Given the description of an element on the screen output the (x, y) to click on. 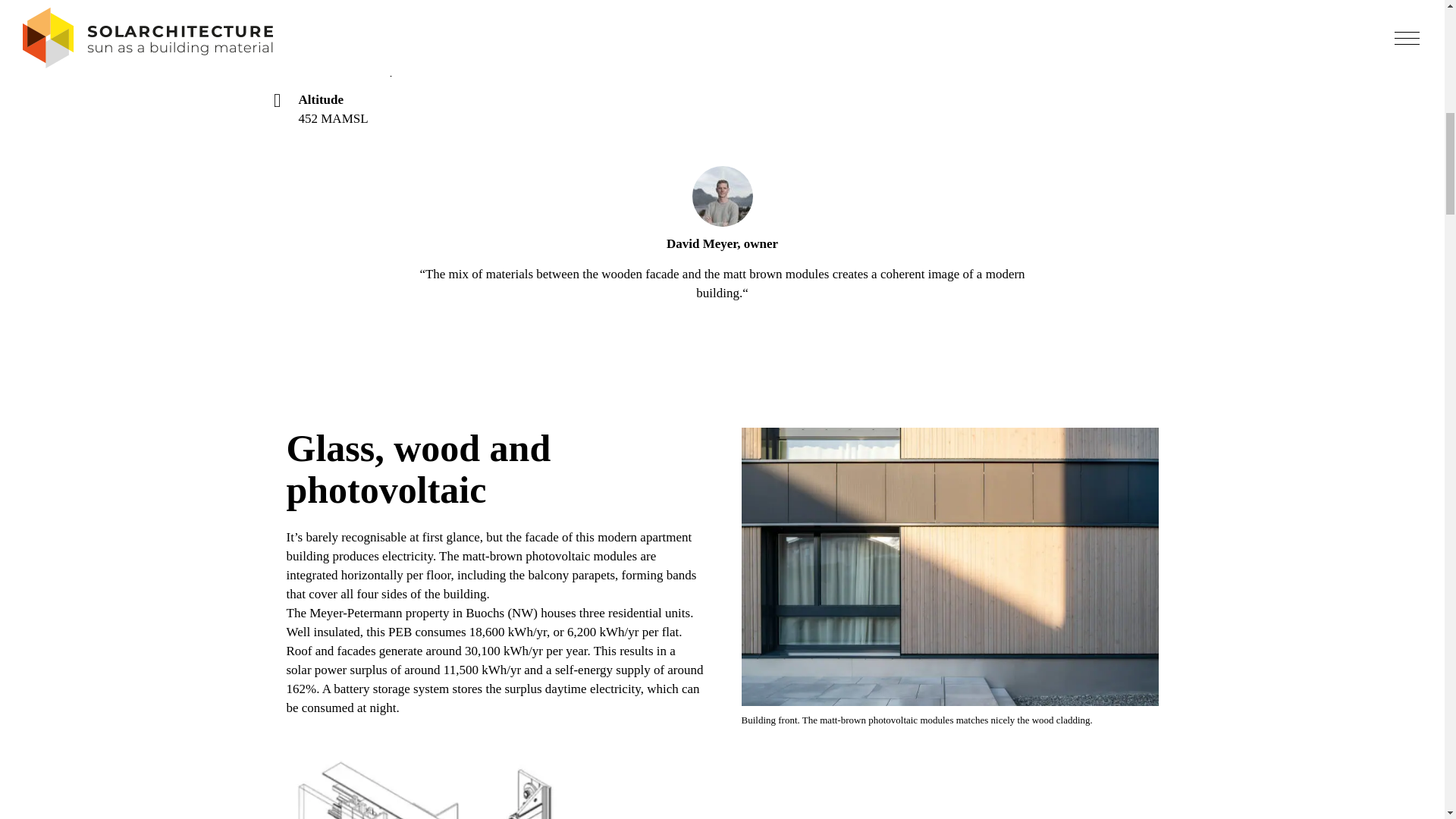
fassaden-unterkonstruktion GFT 66V (494, 787)
Lindenstrasse 4, 6374 Bouchs, Switzerland (409, 20)
